Given the description of an element on the screen output the (x, y) to click on. 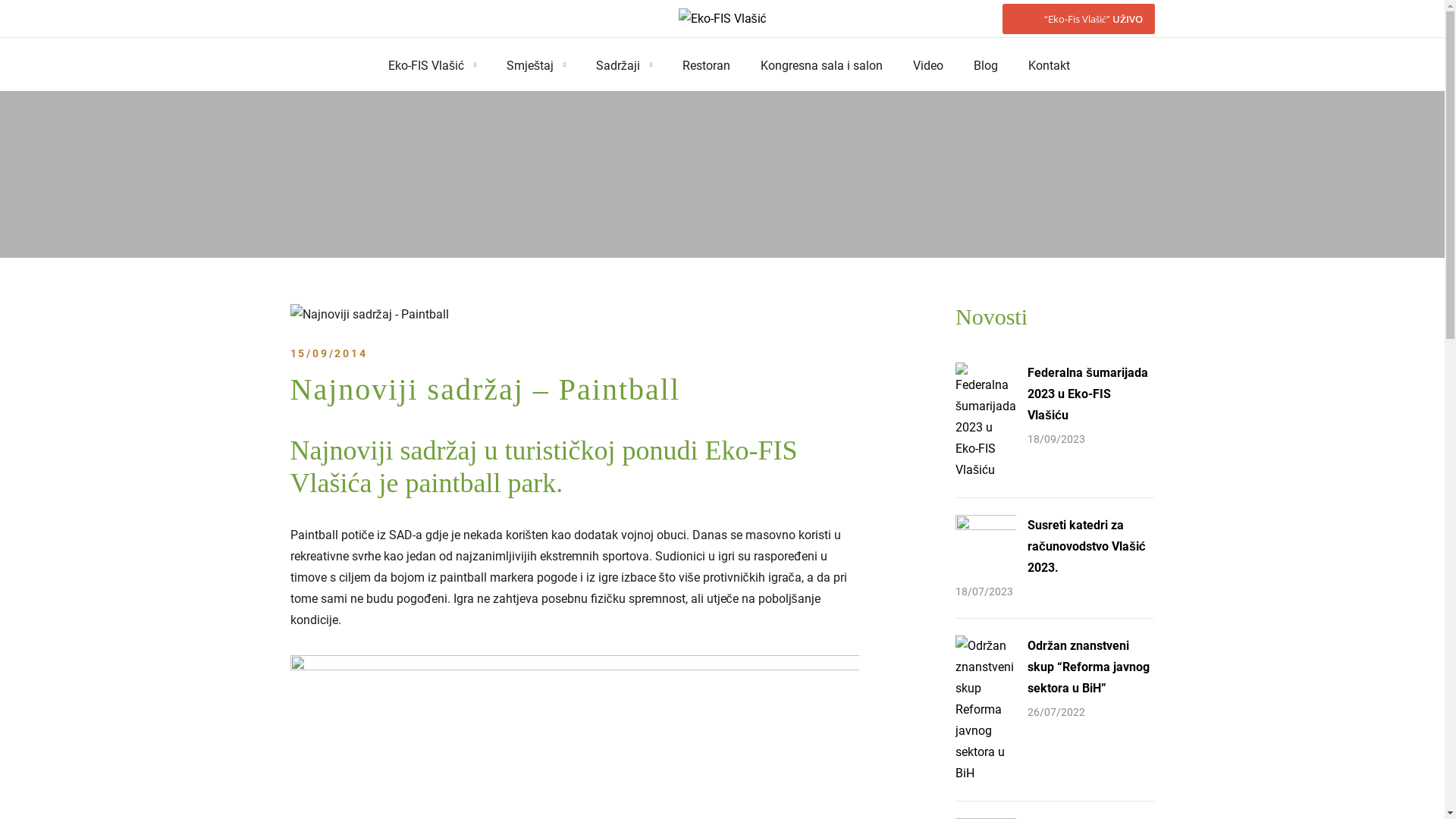
18/07/2023 Element type: text (984, 591)
Video Element type: text (928, 66)
15/09/2014 Element type: text (328, 353)
26/07/2022 Element type: text (1056, 711)
Kontakt Element type: text (1049, 66)
18/09/2023 Element type: text (1056, 439)
Kongresna sala i salon Element type: text (821, 66)
Blog Element type: text (985, 66)
Restoran Element type: text (706, 66)
